Given the description of an element on the screen output the (x, y) to click on. 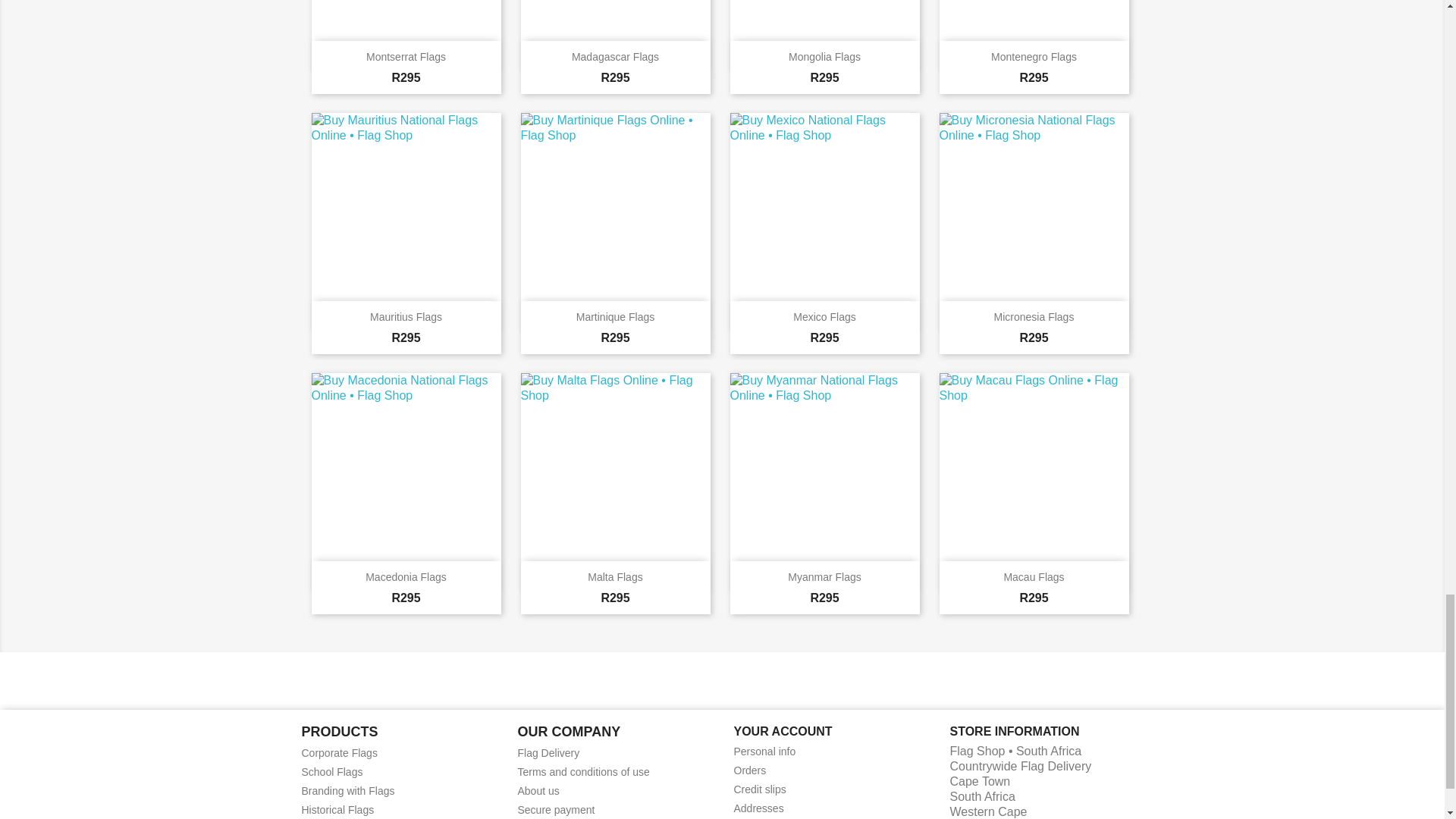
Flag Shop terms and conditions of use (582, 771)
